Given the description of an element on the screen output the (x, y) to click on. 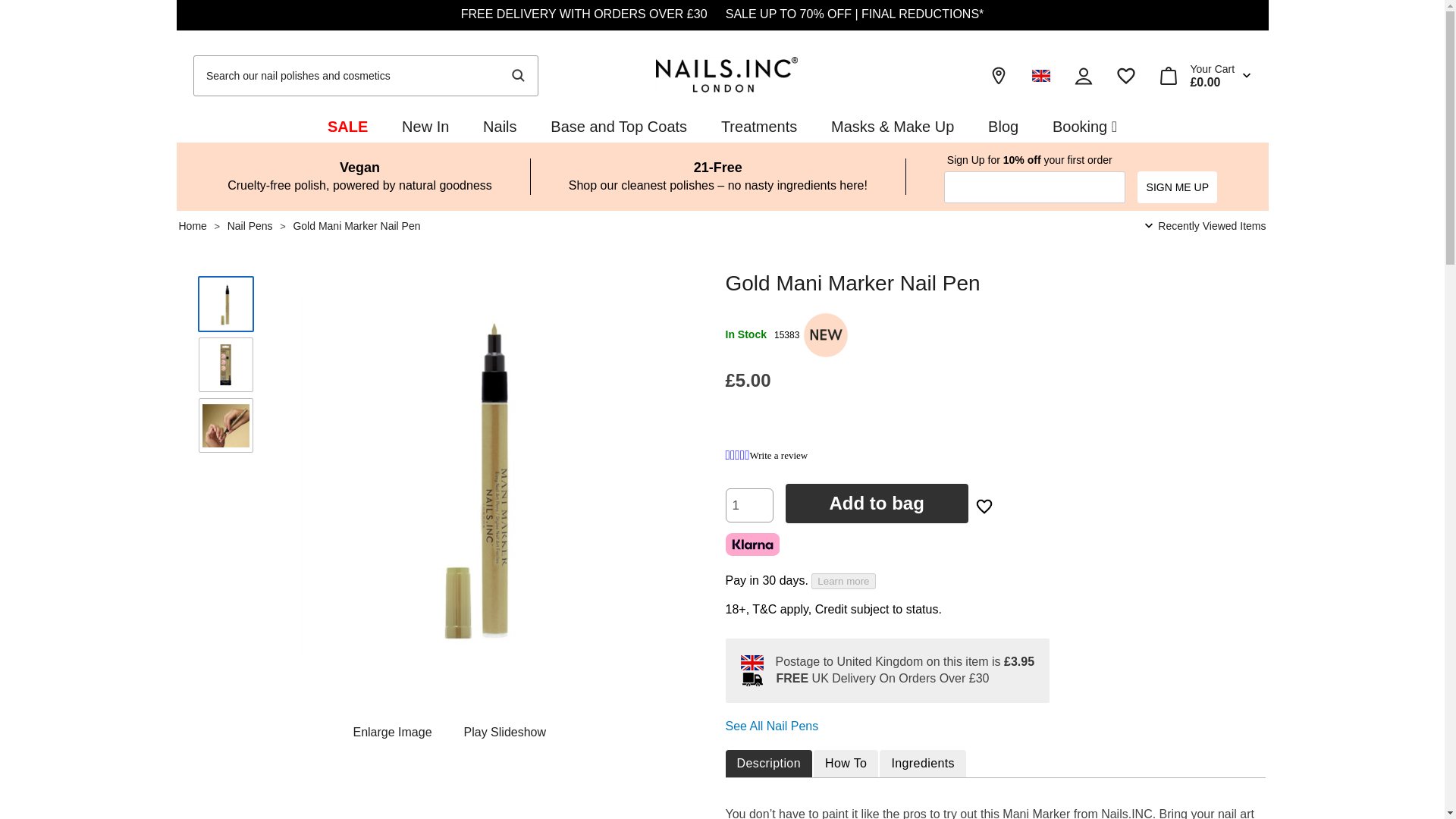
1 (749, 505)
SALE (347, 126)
New In (425, 126)
SALE (347, 126)
Country Settings (1040, 75)
Wishlist (1125, 75)
Sign me up (1177, 187)
Account login (1083, 75)
